Given the description of an element on the screen output the (x, y) to click on. 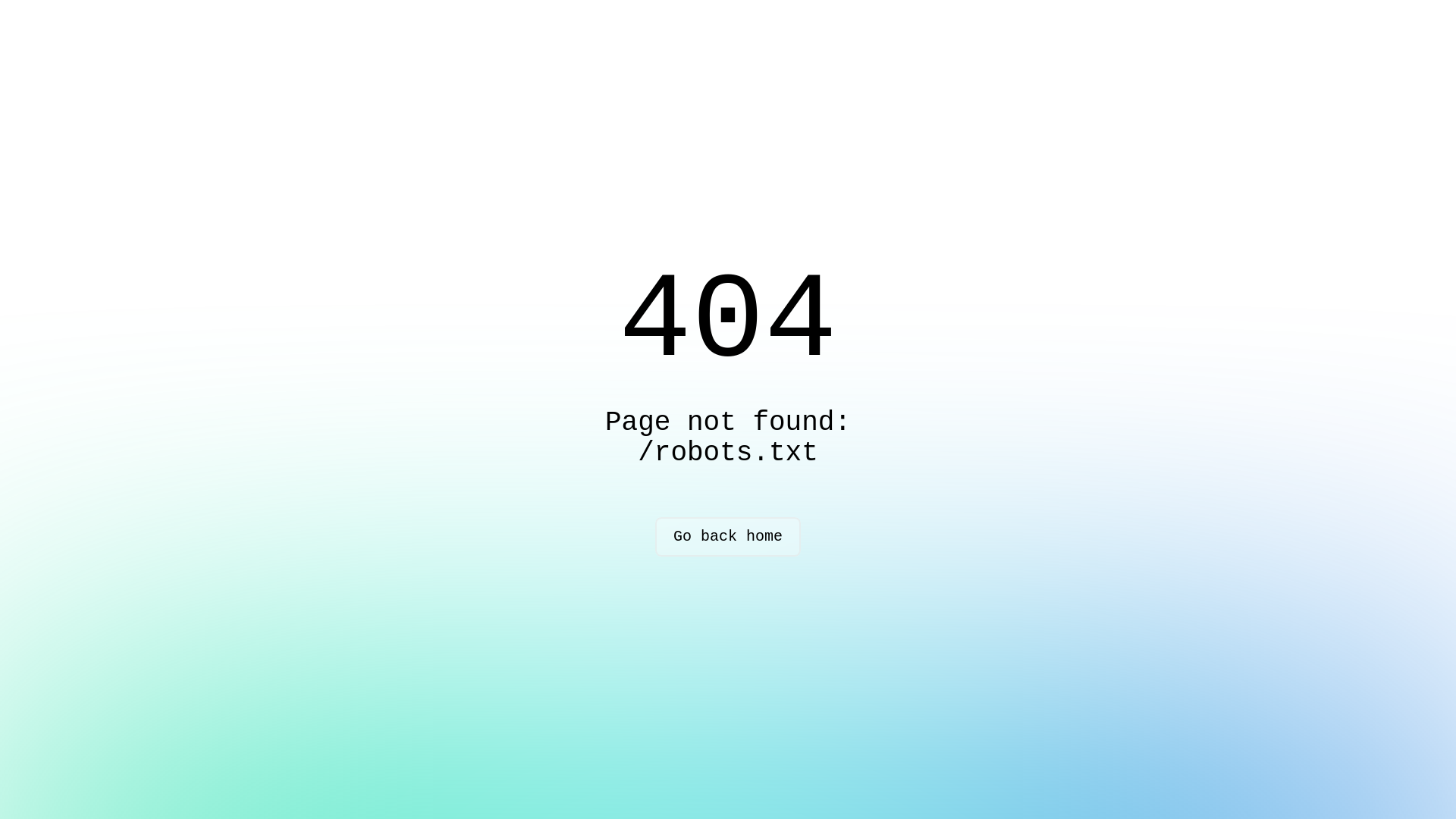
Go back home Element type: text (727, 536)
